Given the description of an element on the screen output the (x, y) to click on. 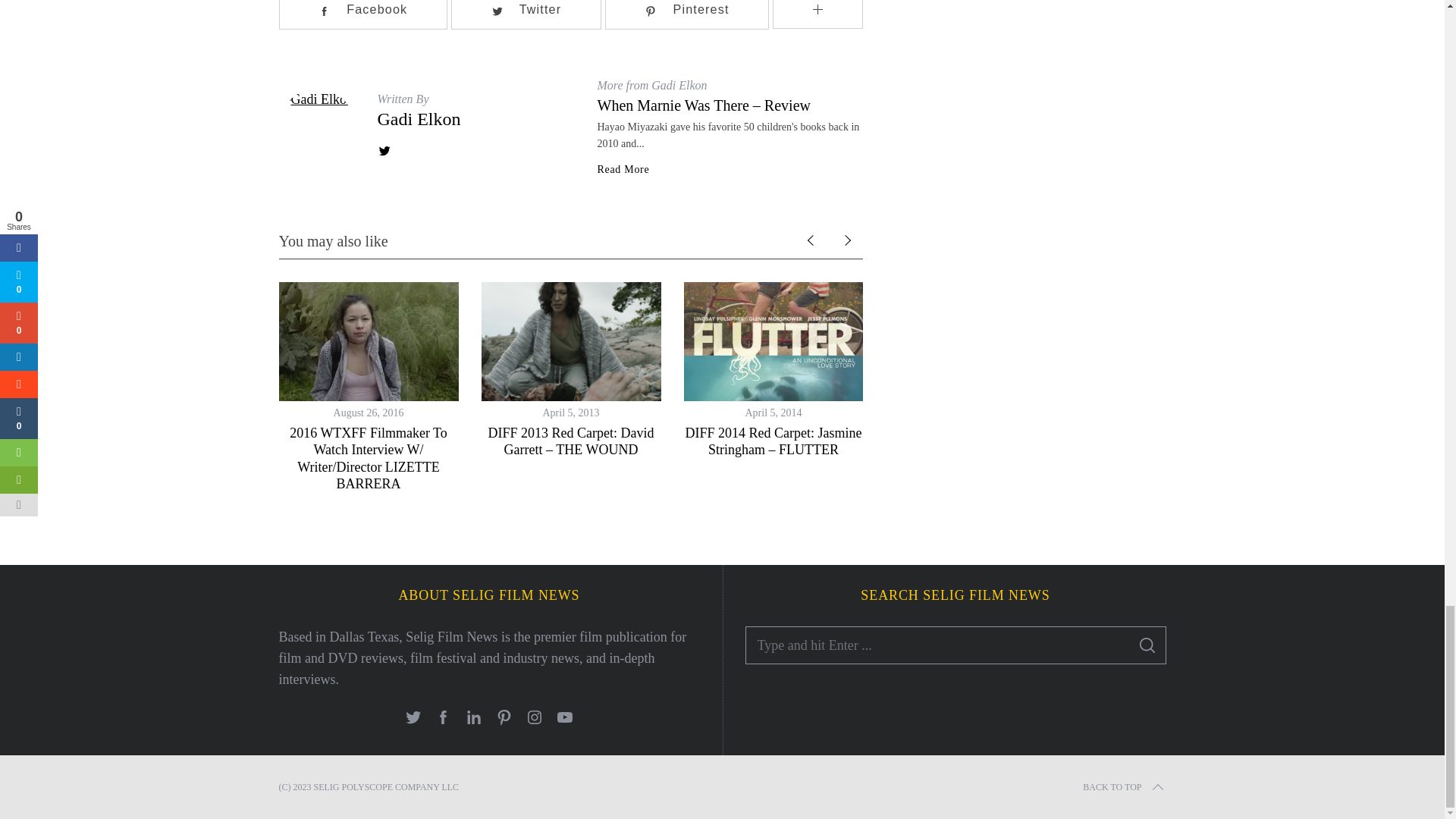
DIFF 2013 Red Carpet: David Garrett - THE WOUND 3 (570, 341)
DIFF 2014 Red Carpet: Jasmine Stringham - FLUTTER 4 (773, 341)
